Given the description of an element on the screen output the (x, y) to click on. 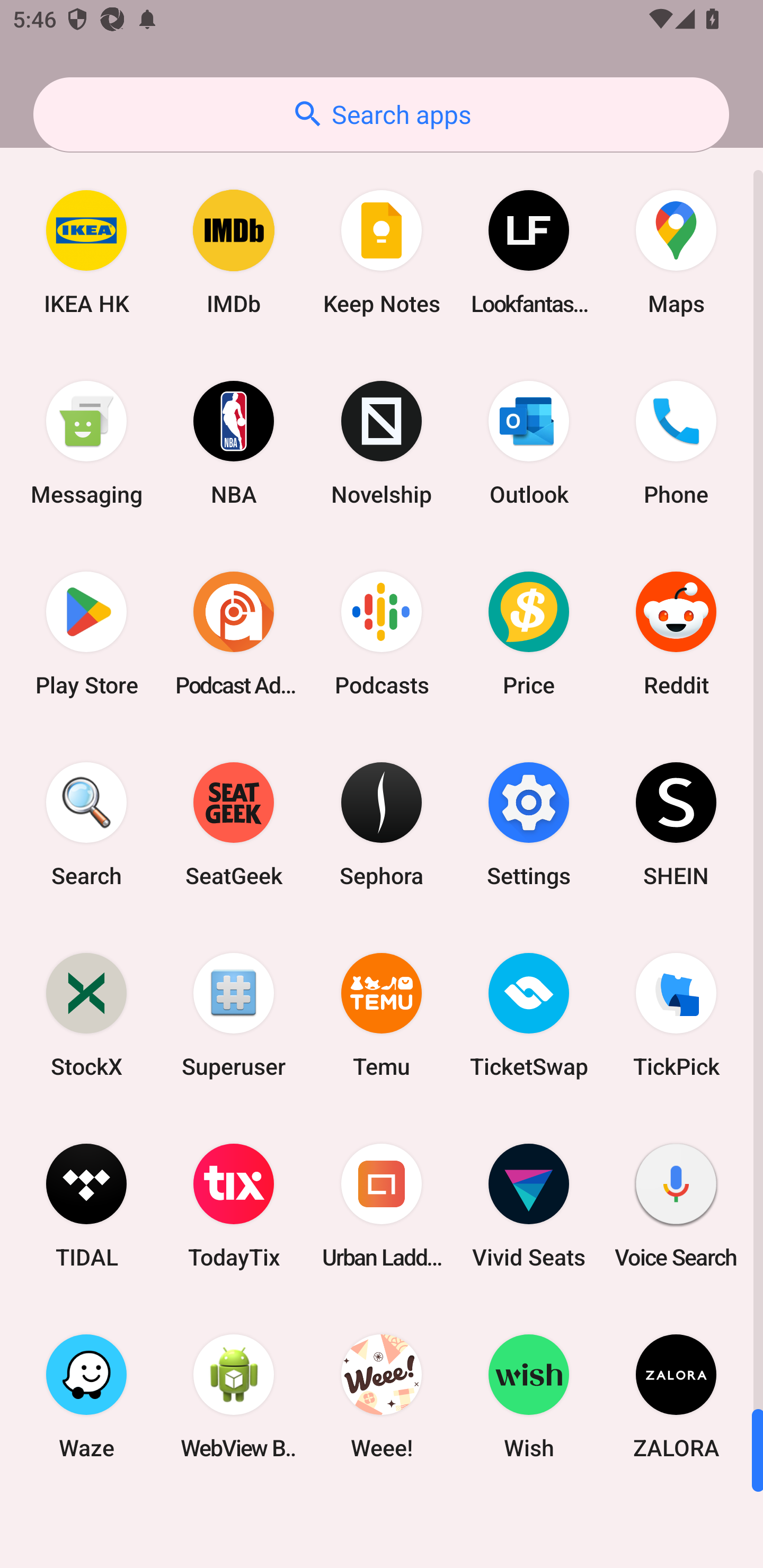
  Search apps (381, 114)
IKEA HK (86, 252)
IMDb (233, 252)
Keep Notes (381, 252)
Lookfantastic (528, 252)
Maps (676, 252)
Messaging (86, 442)
NBA (233, 442)
Novelship (381, 442)
Outlook (528, 442)
Phone (676, 442)
Play Store (86, 633)
Podcast Addict (233, 633)
Podcasts (381, 633)
Price (528, 633)
Reddit (676, 633)
Search (86, 823)
SeatGeek (233, 823)
Sephora (381, 823)
Settings (528, 823)
SHEIN (676, 823)
StockX (86, 1014)
Superuser (233, 1014)
Temu (381, 1014)
TicketSwap (528, 1014)
TickPick (676, 1014)
TIDAL (86, 1205)
TodayTix (233, 1205)
Urban Ladder (381, 1205)
Vivid Seats (528, 1205)
Voice Search (676, 1205)
Waze (86, 1396)
WebView Browser Tester (233, 1396)
Weee! (381, 1396)
Wish (528, 1396)
ZALORA (676, 1396)
